Given the description of an element on the screen output the (x, y) to click on. 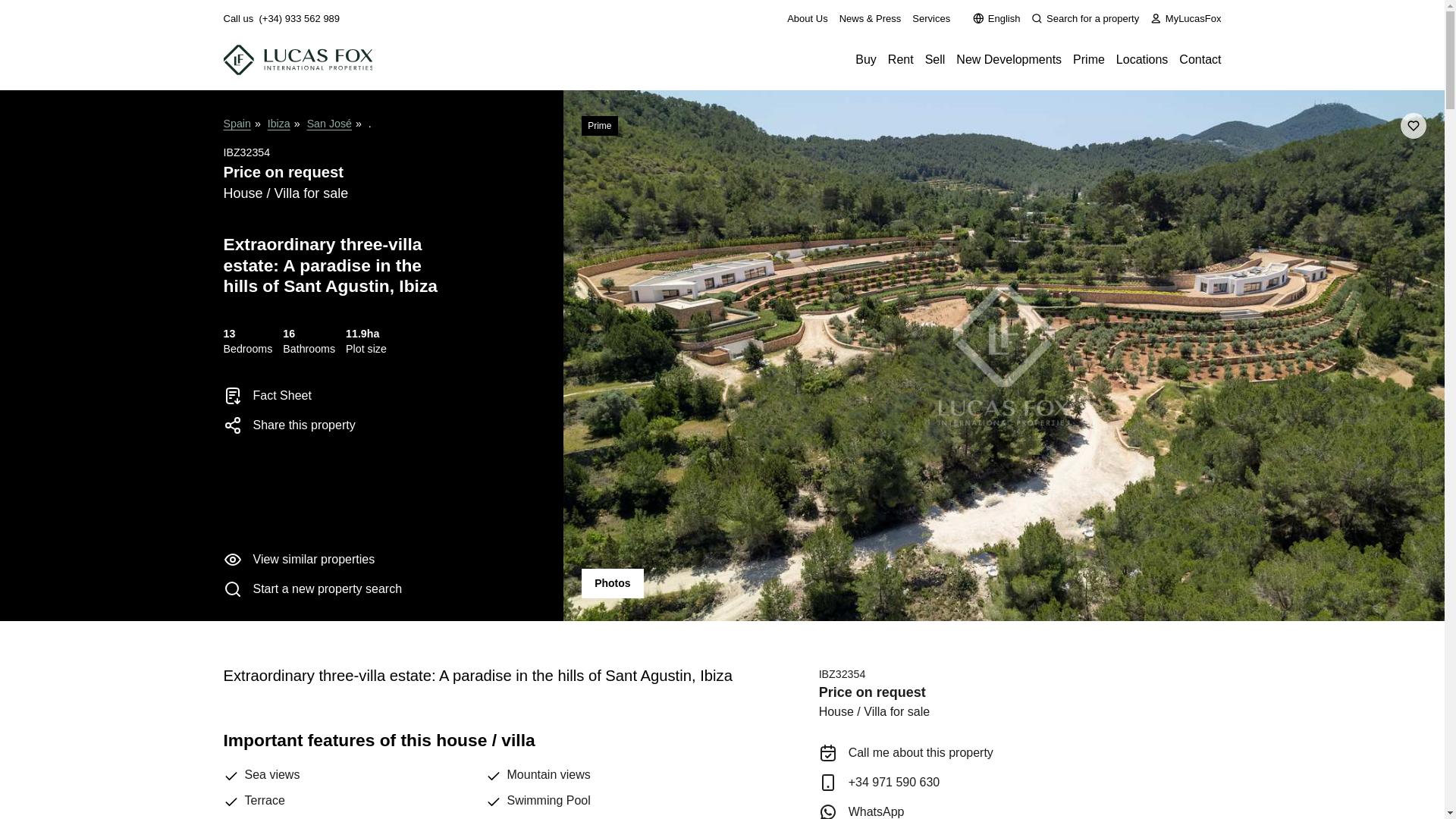
Services (931, 18)
MyLucasFox (1185, 18)
Sell (934, 59)
New Developments (1008, 59)
Lucas Fox Services (931, 18)
Rent (901, 59)
Lucas Fox Prime (1089, 59)
Buy (866, 59)
Prime (1089, 59)
English (996, 18)
